Given the description of an element on the screen output the (x, y) to click on. 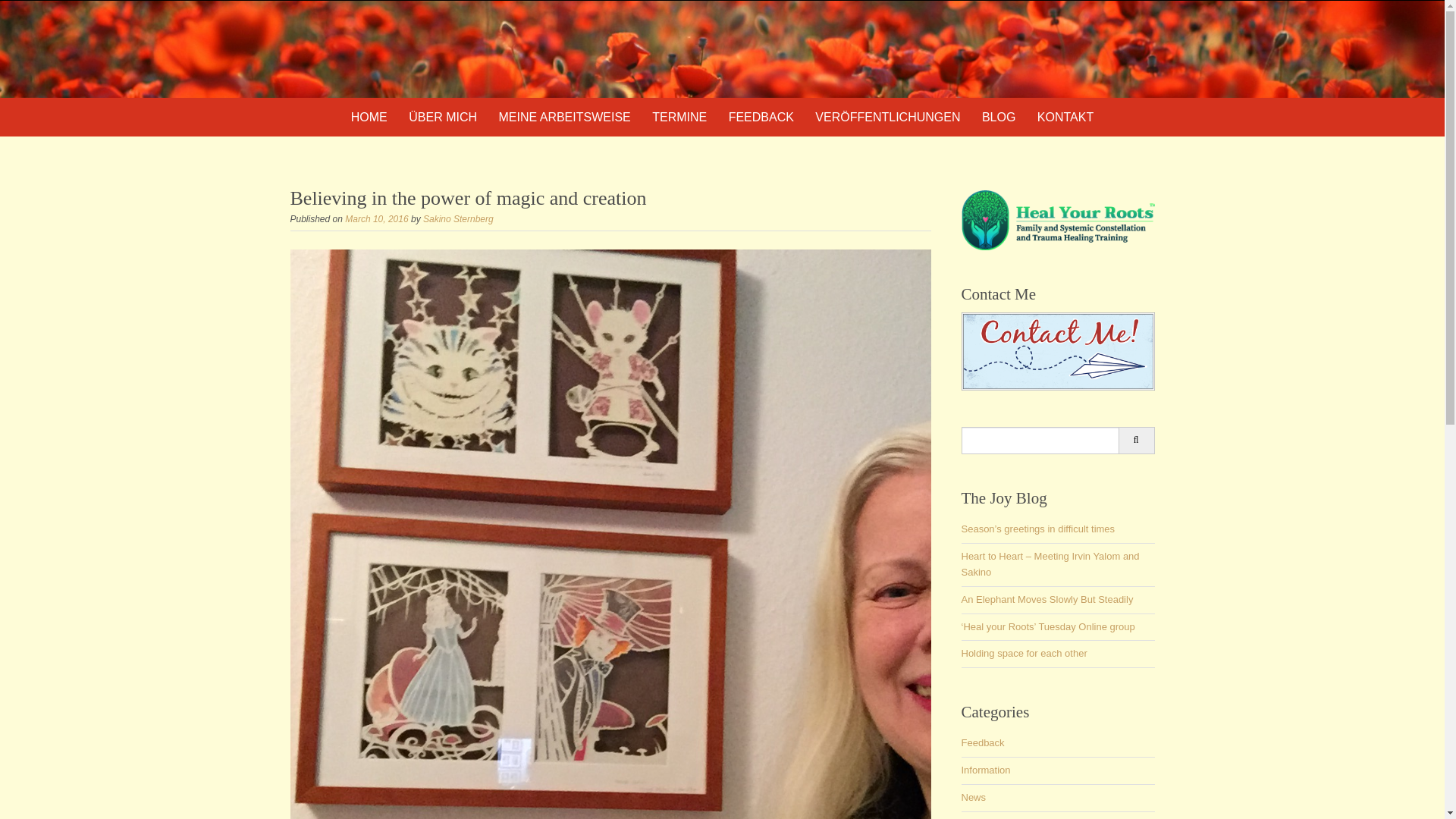
HOME (369, 116)
Information (985, 769)
KONTAKT (1064, 116)
FEEDBACK (761, 116)
MEINE ARBEITSWEISE (564, 116)
Holding space for each other (1023, 653)
An Elephant Moves Slowly But Steadily (1047, 599)
News (973, 797)
Feedback (982, 742)
